Given the description of an element on the screen output the (x, y) to click on. 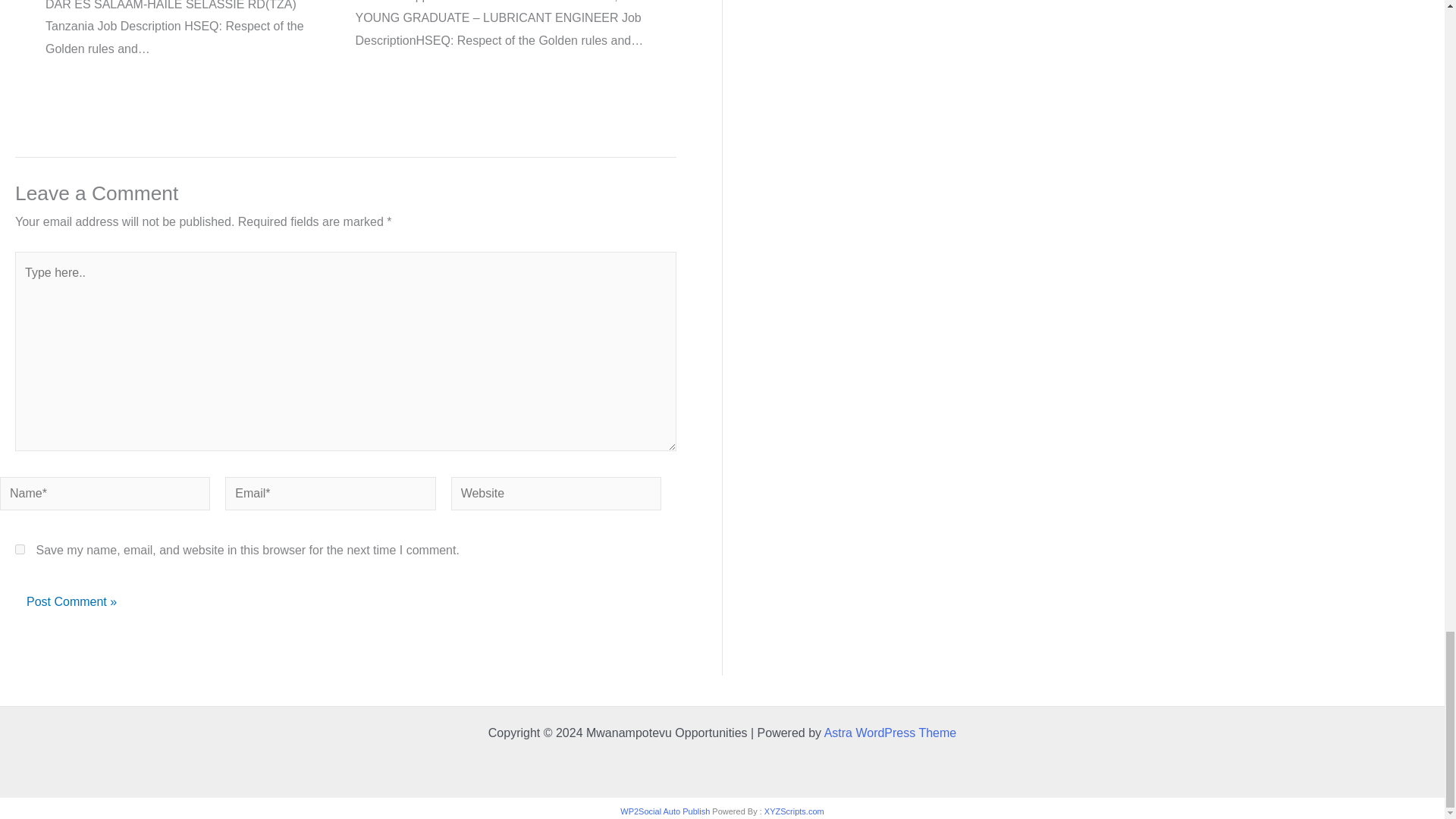
yes (19, 549)
